Given the description of an element on the screen output the (x, y) to click on. 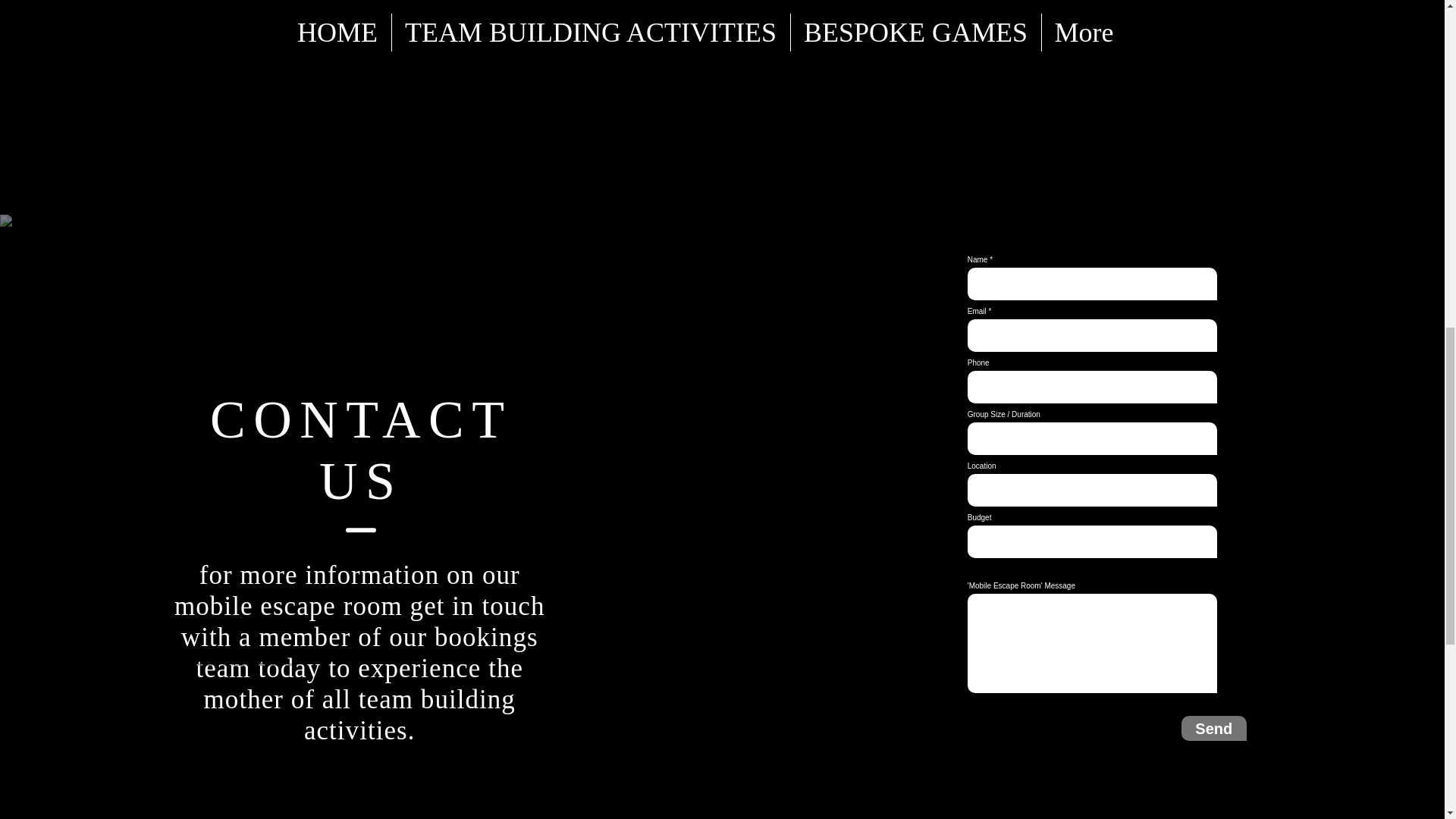
mobile escape room (288, 605)
team building activities (409, 714)
Send (1213, 728)
